Given the description of an element on the screen output the (x, y) to click on. 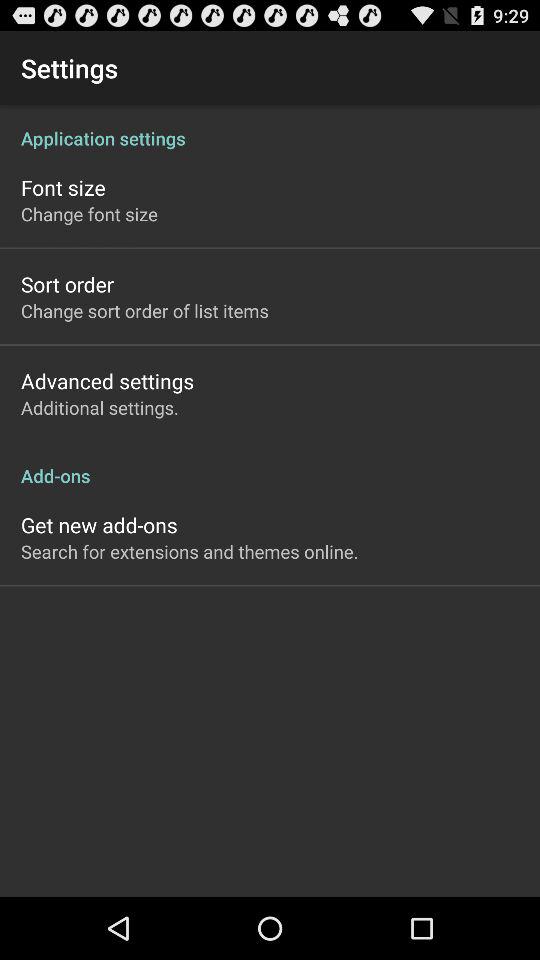
open icon above the font size item (270, 127)
